Given the description of an element on the screen output the (x, y) to click on. 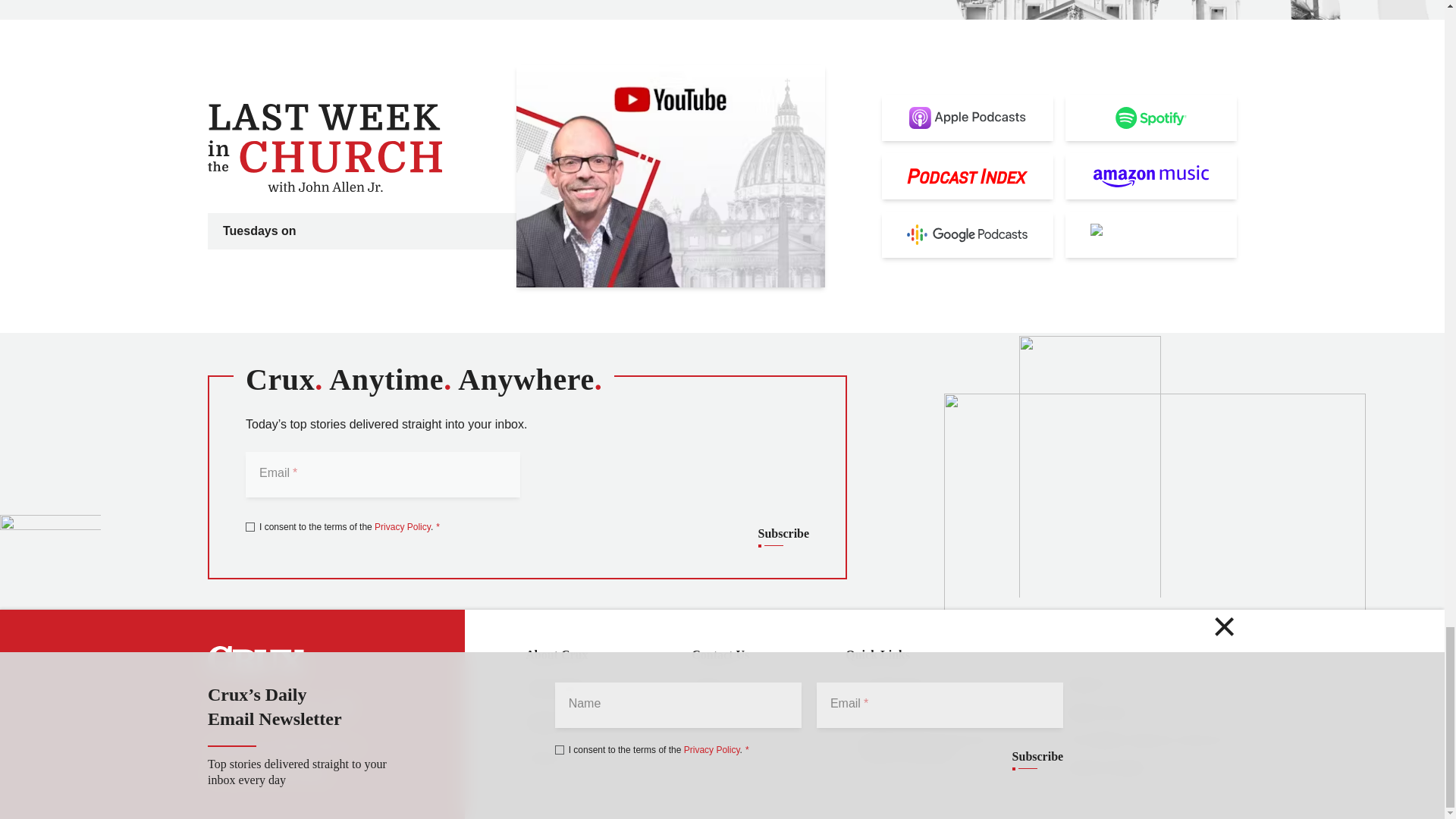
true (250, 526)
